Given the description of an element on the screen output the (x, y) to click on. 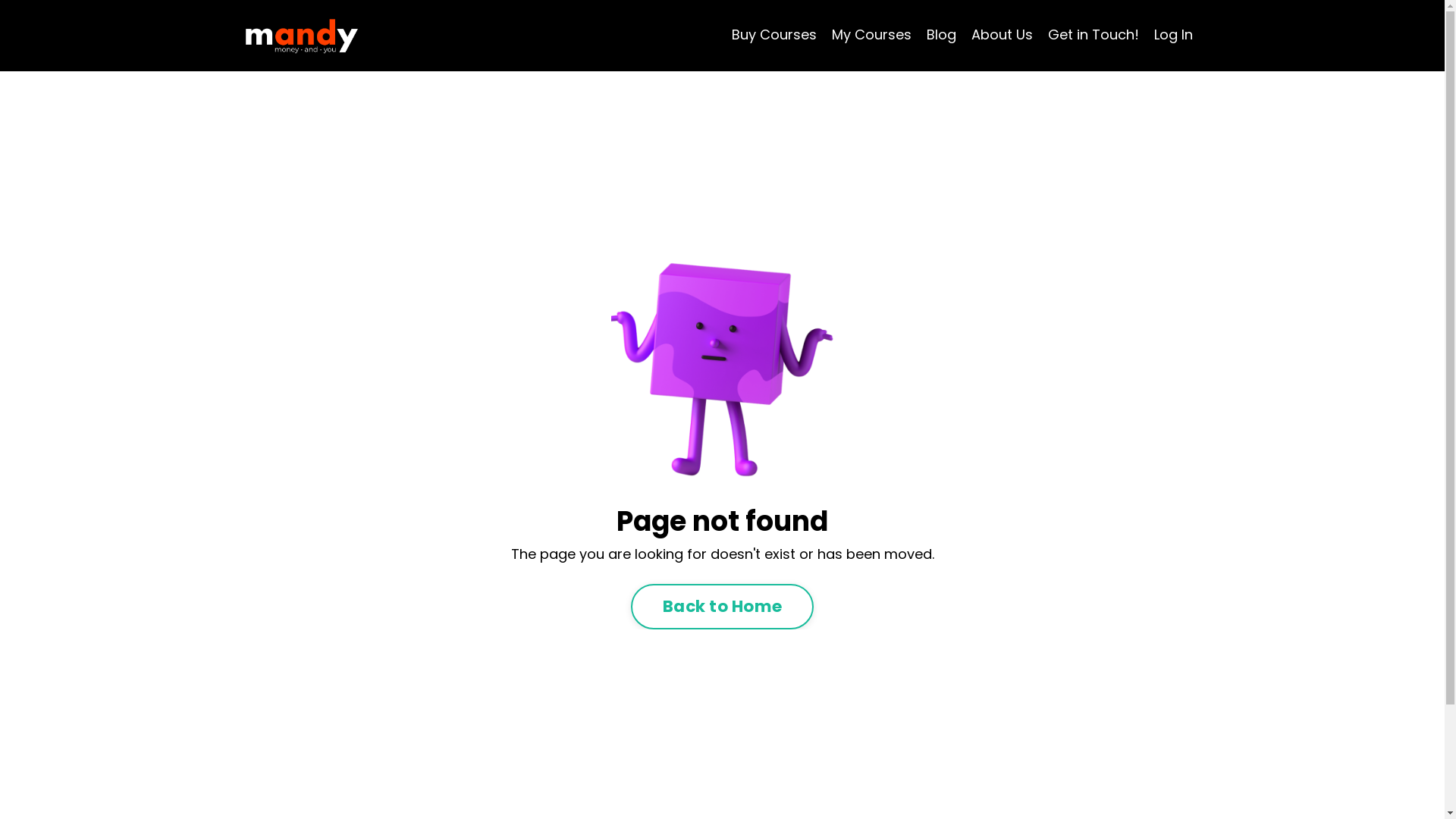
Back to Home Element type: text (721, 606)
Buy Courses Element type: text (773, 35)
Log In Element type: text (1173, 34)
About Us Element type: text (1001, 35)
Get in Touch! Element type: text (1093, 35)
Blog Element type: text (941, 35)
My Courses Element type: text (870, 35)
